Given the description of an element on the screen output the (x, y) to click on. 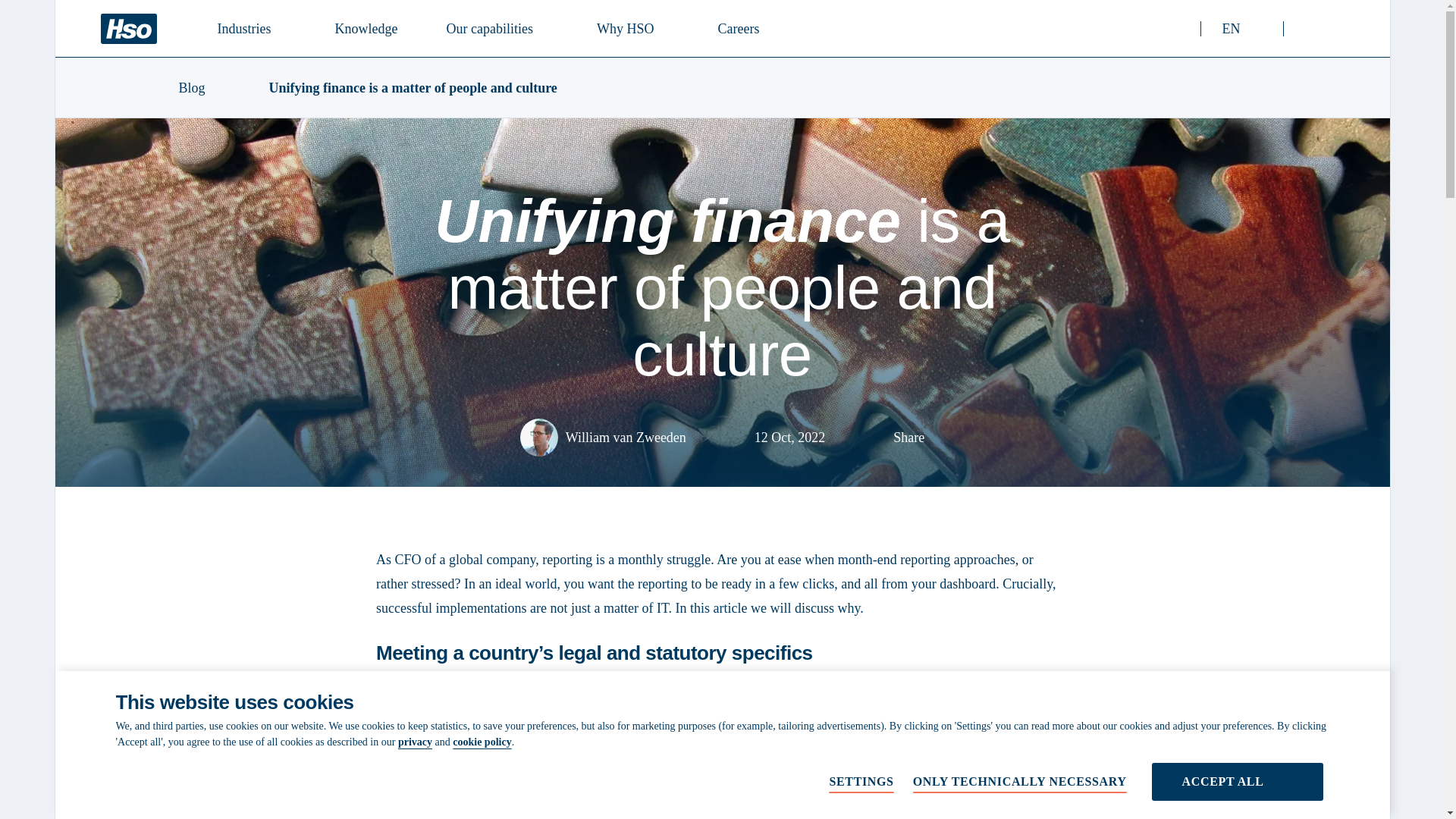
Industries (495, 27)
Logo (251, 27)
Privacy Policy (127, 28)
Cookie Policy (414, 741)
